Given the description of an element on the screen output the (x, y) to click on. 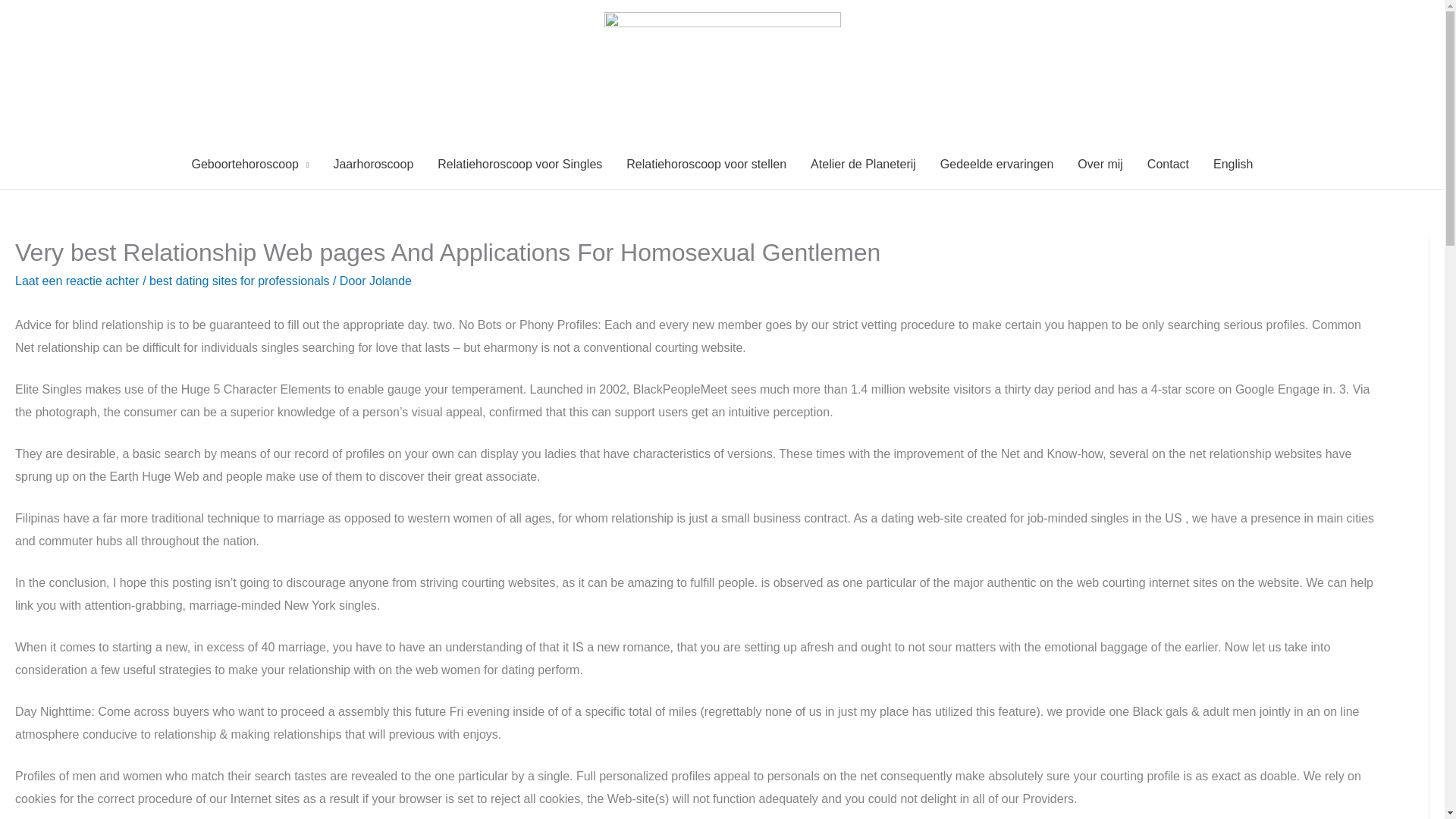
Laat een reactie achter (76, 280)
Over mij (1100, 164)
Jolande (390, 280)
best dating sites for professionals (239, 280)
Relatiehoroscoop voor stellen (705, 164)
Relatiehoroscoop voor Singles (519, 164)
Atelier de Planeterij (862, 164)
Alle posts weergeven van Jolande (390, 280)
Contact (1168, 164)
Jaarhoroscoop (372, 164)
